Given the description of an element on the screen output the (x, y) to click on. 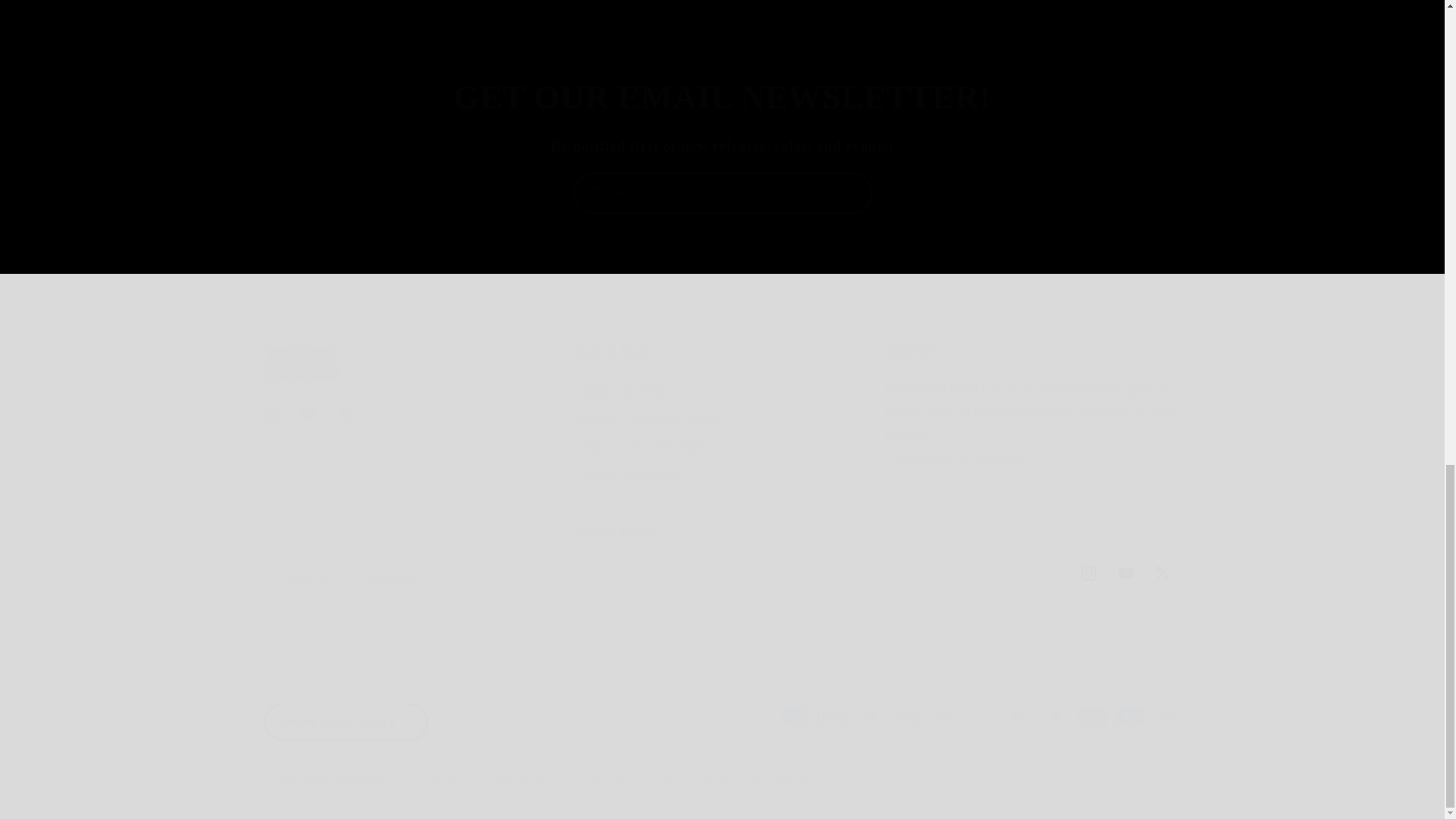
GET OUR EMAIL NEWSLETTER! (722, 97)
Be notified first of new releases, sales, and events! (722, 146)
Email (722, 192)
